Given the description of an element on the screen output the (x, y) to click on. 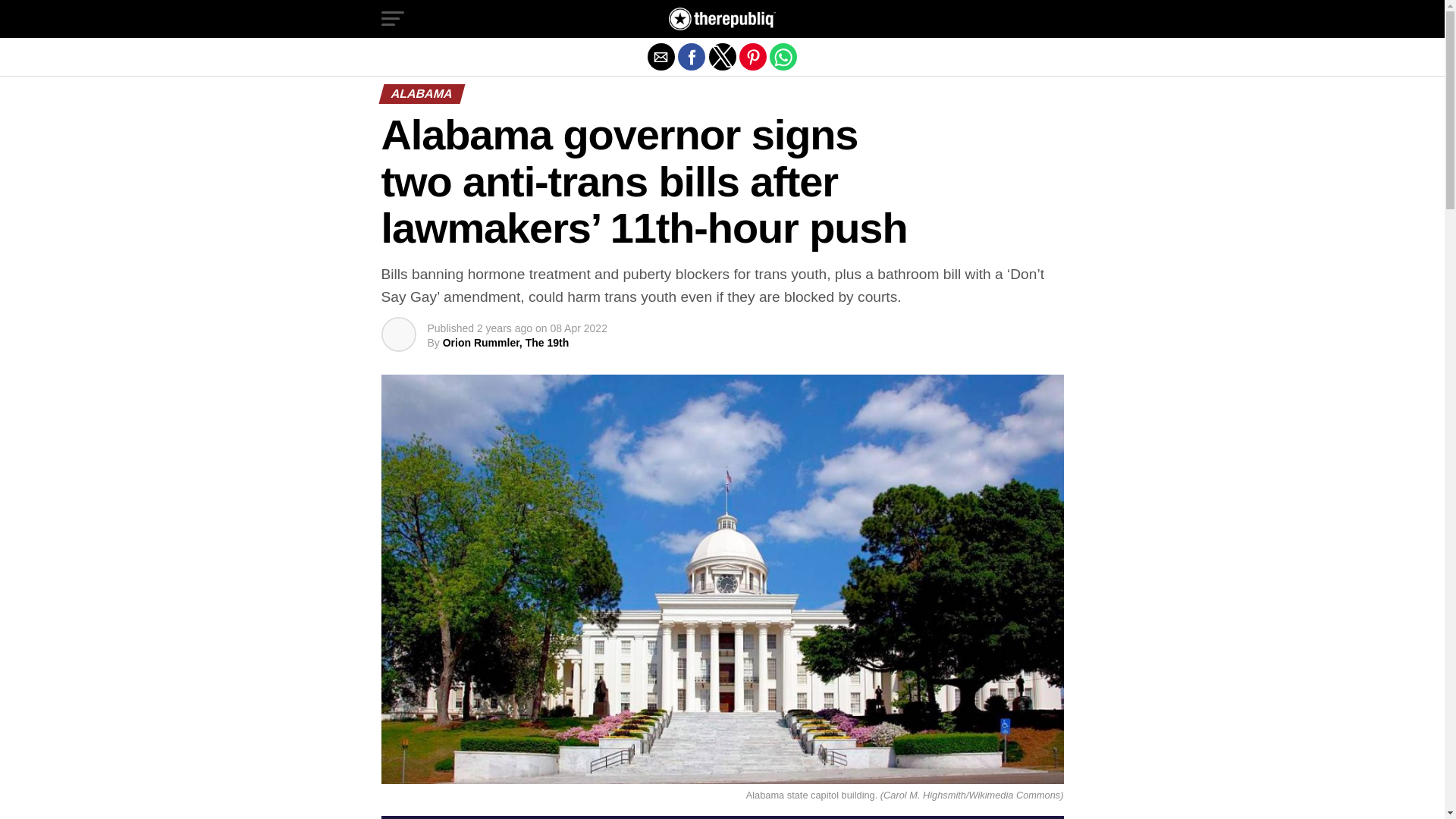
Orion Rummler, The 19th (505, 342)
Posts by Orion Rummler, The 19th (505, 342)
